Given the description of an element on the screen output the (x, y) to click on. 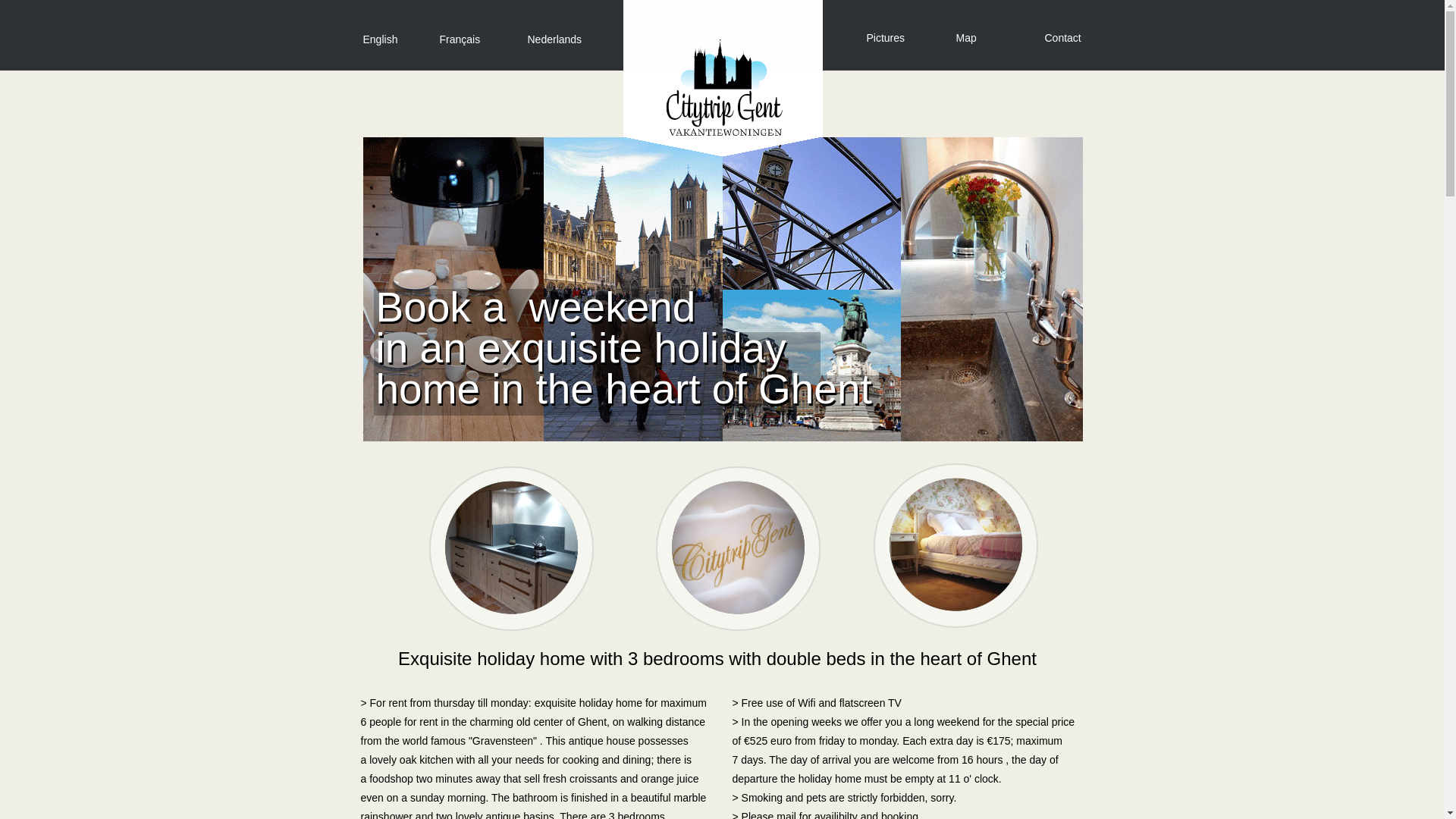
Map Element type: text (965, 37)
Contact Element type: text (1082, 42)
Nederlands Element type: text (554, 39)
English Element type: text (379, 39)
Pictures Element type: text (885, 37)
